Given the description of an element on the screen output the (x, y) to click on. 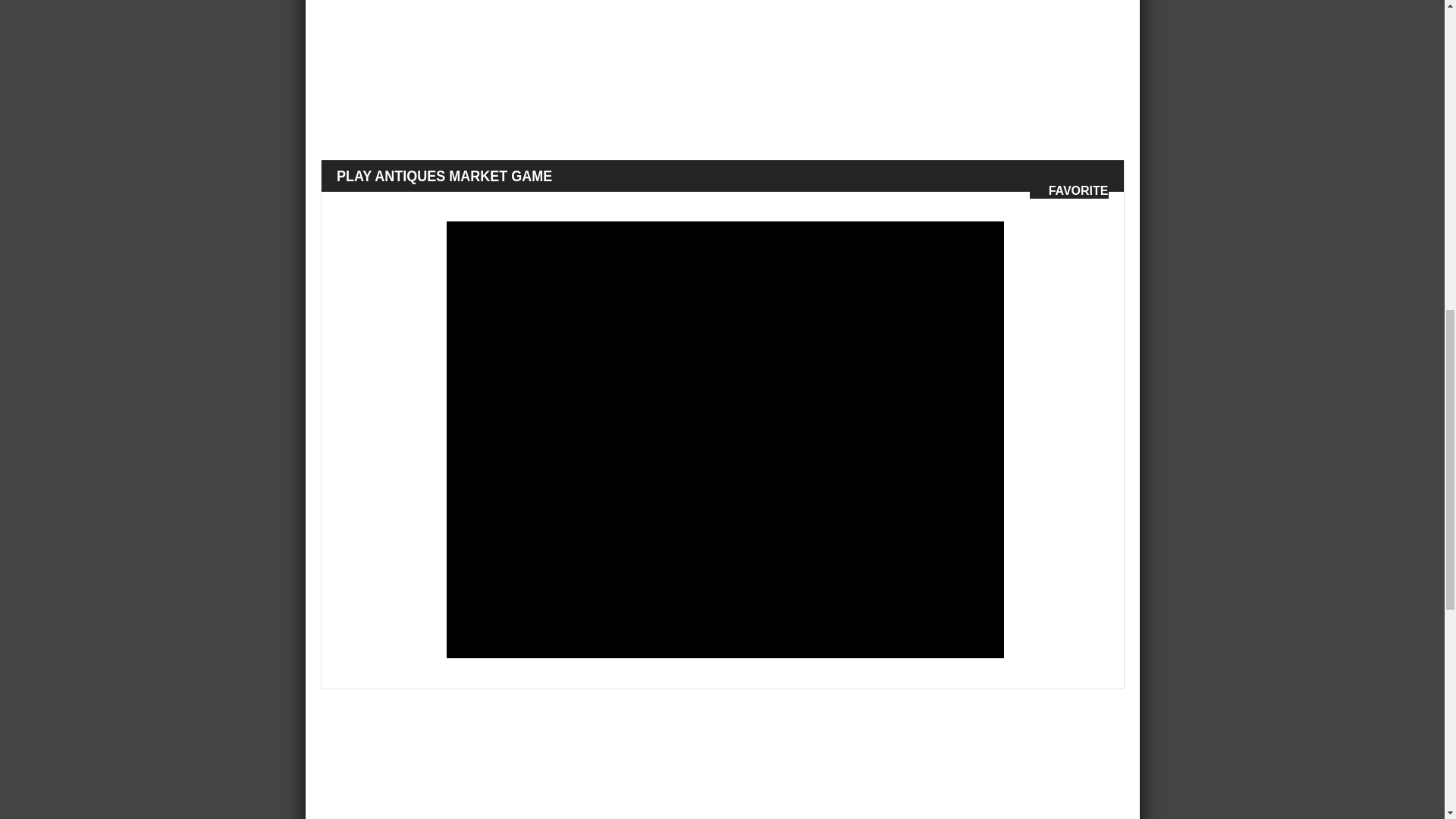
FAVORITE (1068, 191)
Advertisement (775, 51)
